Given the description of an element on the screen output the (x, y) to click on. 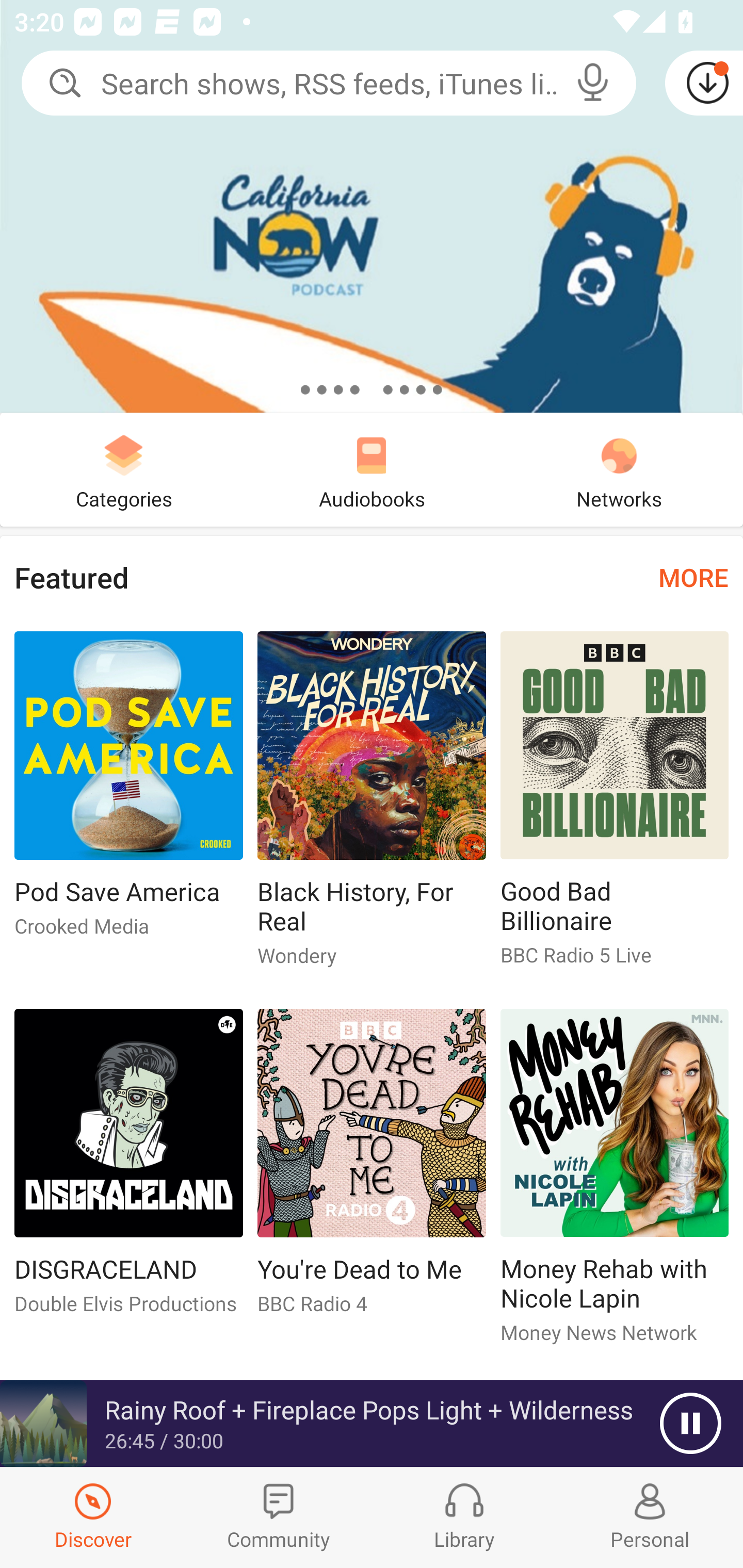
California Now Podcast (371, 206)
Categories (123, 469)
Audiobooks (371, 469)
Networks (619, 469)
MORE (693, 576)
Pod Save America Pod Save America Crooked Media (128, 792)
DISGRACELAND DISGRACELAND Double Elvis Productions (128, 1169)
You're Dead to Me You're Dead to Me BBC Radio 4 (371, 1169)
Pause (690, 1423)
Discover (92, 1517)
Community (278, 1517)
Library (464, 1517)
Profiles and Settings Personal (650, 1517)
